Given the description of an element on the screen output the (x, y) to click on. 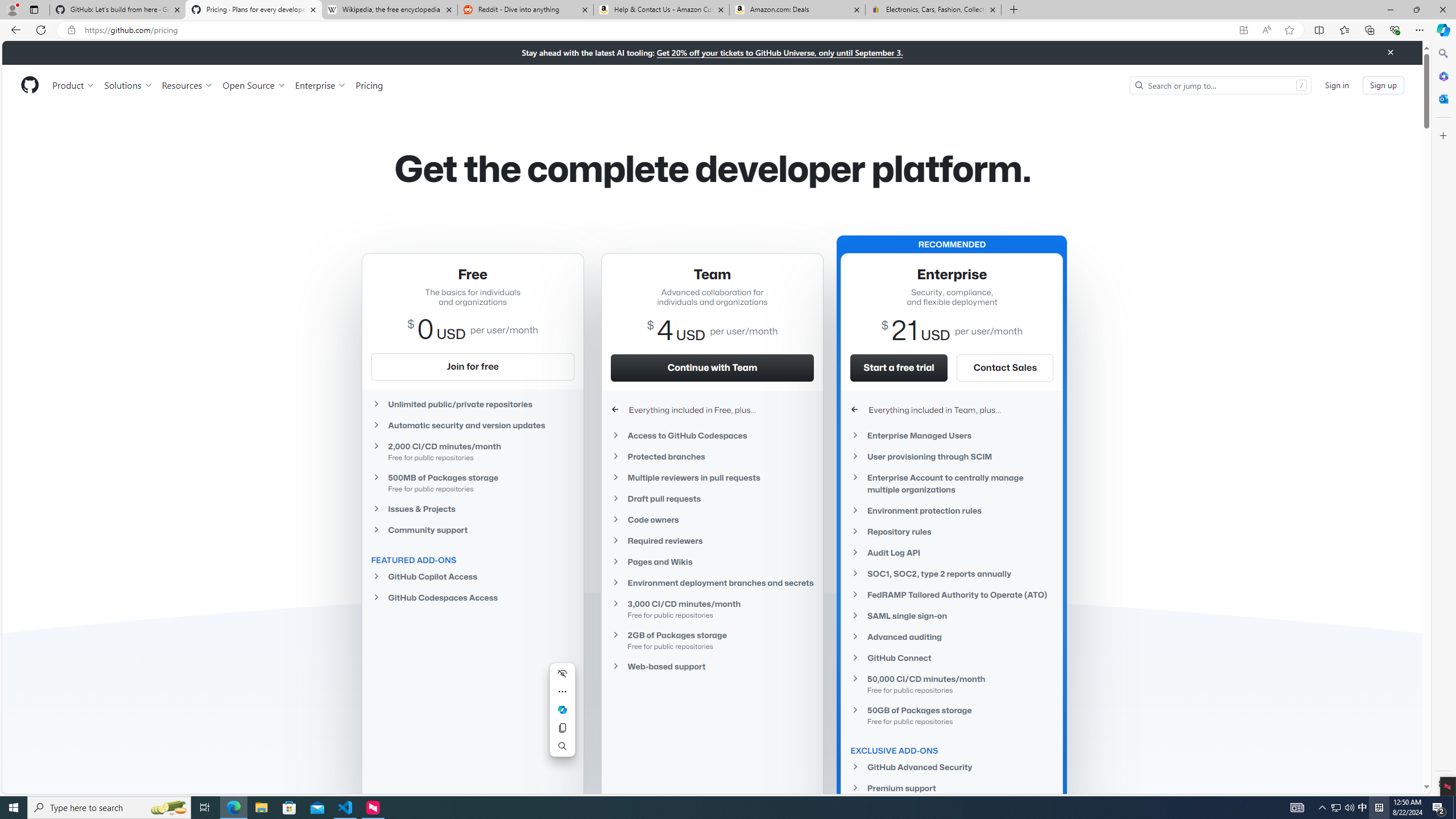
User provisioning through SCIM (952, 456)
GitHub Copilot Access (473, 576)
Environment deployment branches and secrets (711, 582)
GitHub Codespaces Access (473, 597)
50,000 CI/CD minutes/monthFree for public repositories (952, 683)
Multiple reviewers in pull requests (711, 477)
Solutions (128, 84)
Continue with Team (711, 367)
Sign up (1382, 84)
Contact Sales (1005, 367)
SOC1, SOC2, type 2 reports annually (952, 573)
Protected branches (711, 456)
Advanced auditing (952, 636)
